Given the description of an element on the screen output the (x, y) to click on. 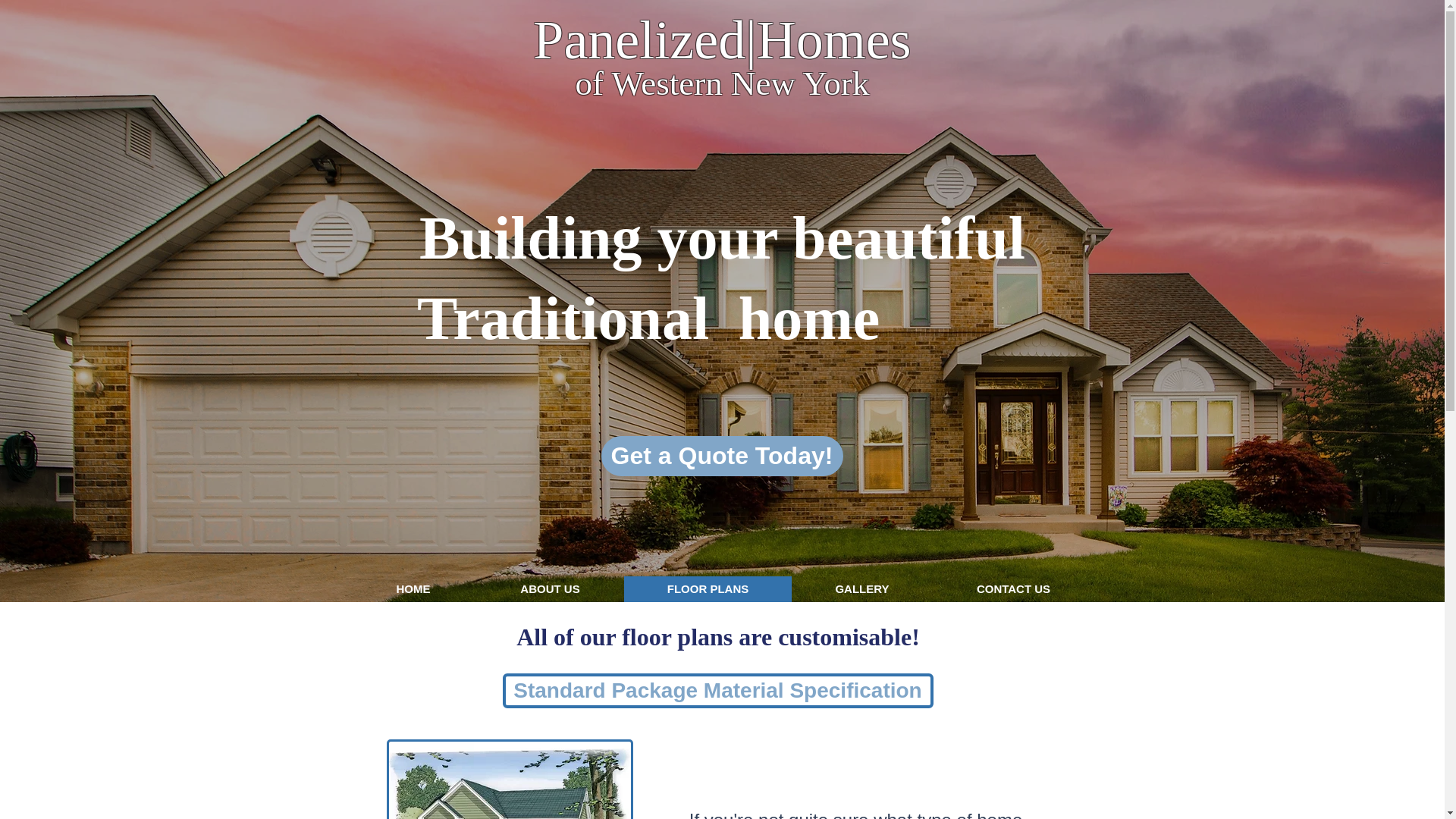
GALLERY (862, 588)
Get a Quote Today! (721, 455)
CONTACT US (1013, 588)
Standard Package Material Specification (717, 690)
FLOOR PLANS (706, 588)
HOME (413, 588)
ABOUT US (550, 588)
